Given the description of an element on the screen output the (x, y) to click on. 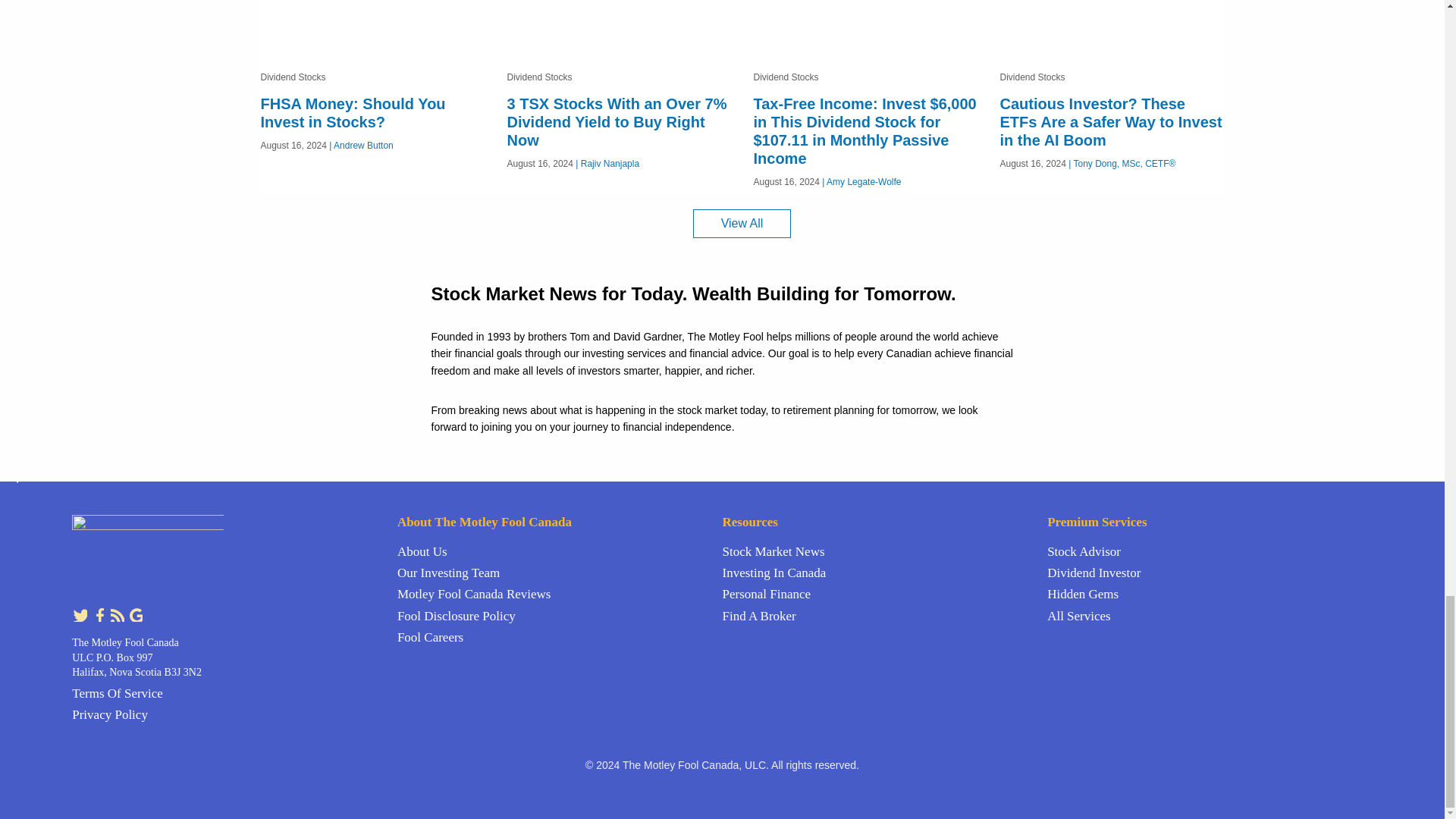
Follow us on Google News (135, 613)
Subscribe to our feed (118, 613)
Follow us on Twitter (80, 613)
Like us on Facebook (99, 613)
